Given the description of an element on the screen output the (x, y) to click on. 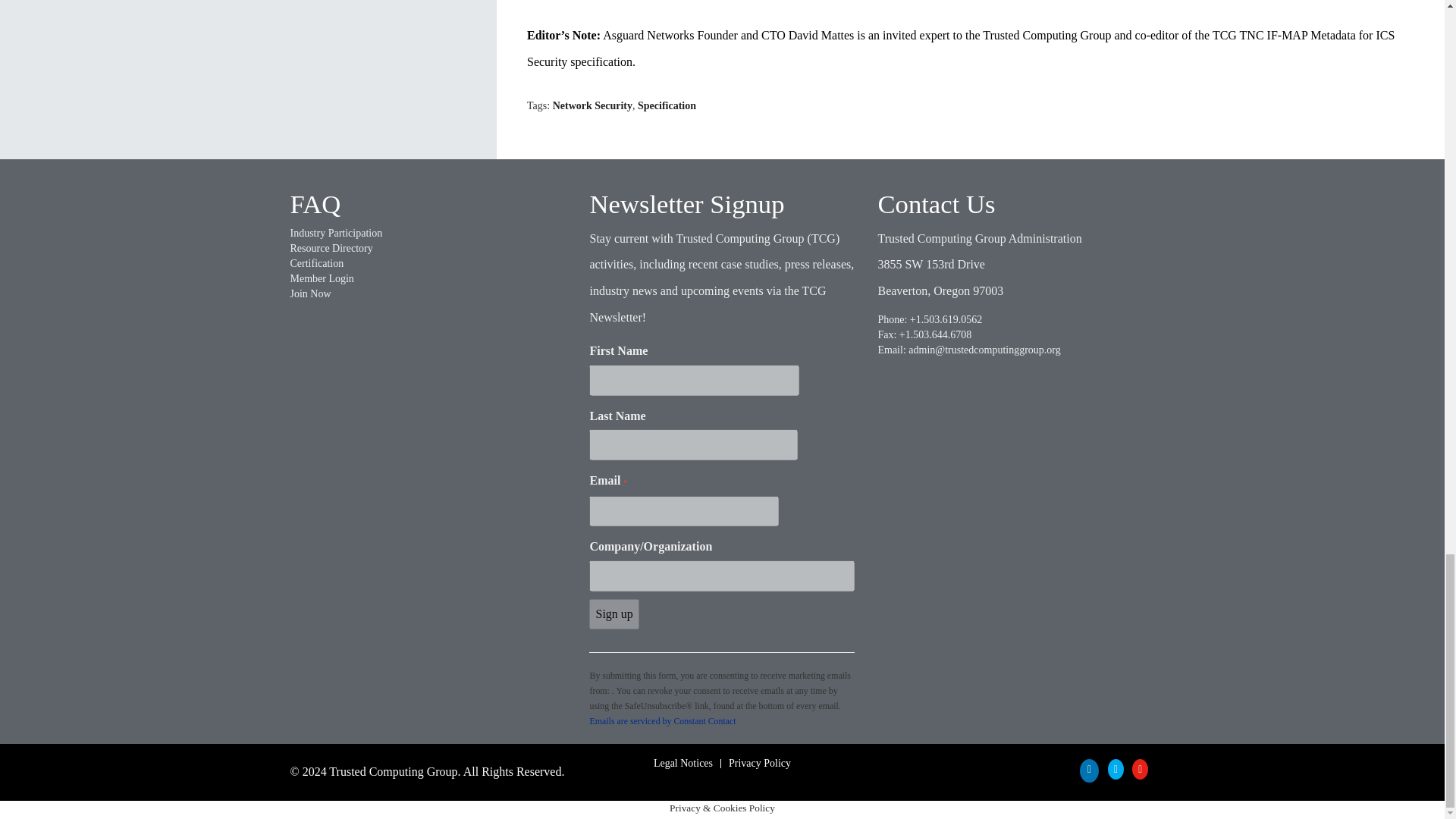
Sign up (614, 613)
